Given the description of an element on the screen output the (x, y) to click on. 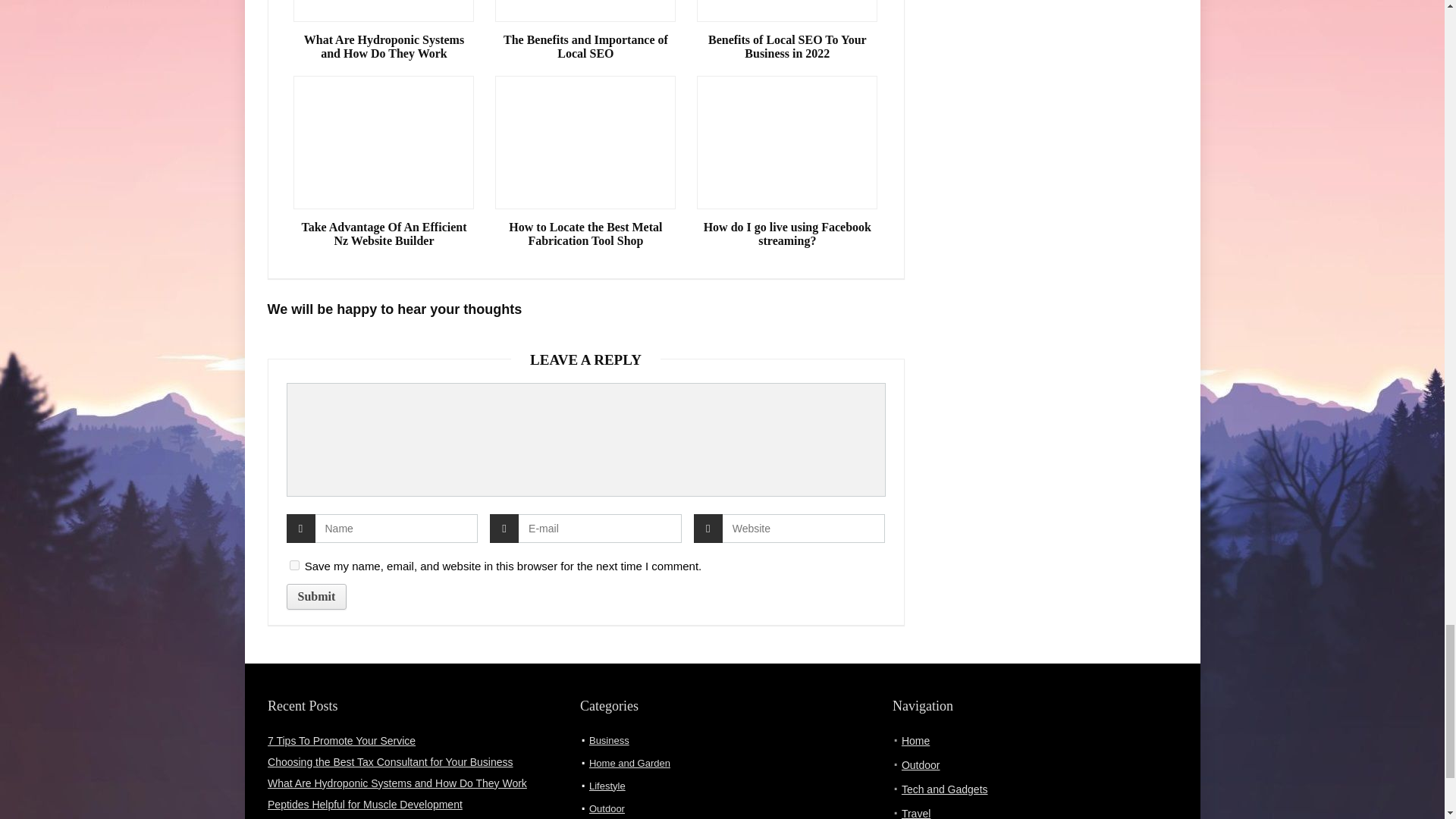
The Benefits and Importance of Local SEO (585, 46)
Take Advantage Of An Efficient Nz Website Builder (384, 234)
Submit (316, 596)
What Are Hydroponic Systems and How Do They Work (384, 46)
yes (294, 565)
How do I go live using Facebook streaming? (787, 234)
Benefits of Local SEO To Your Business in 2022 (787, 46)
Benefits of Local SEO To Your Business in 2022 (787, 46)
How to Locate the Best Metal Fabrication Tool Shop (585, 234)
What Are Hydroponic Systems and How Do They Work (384, 46)
The Benefits and Importance of Local SEO (585, 46)
